Given the description of an element on the screen output the (x, y) to click on. 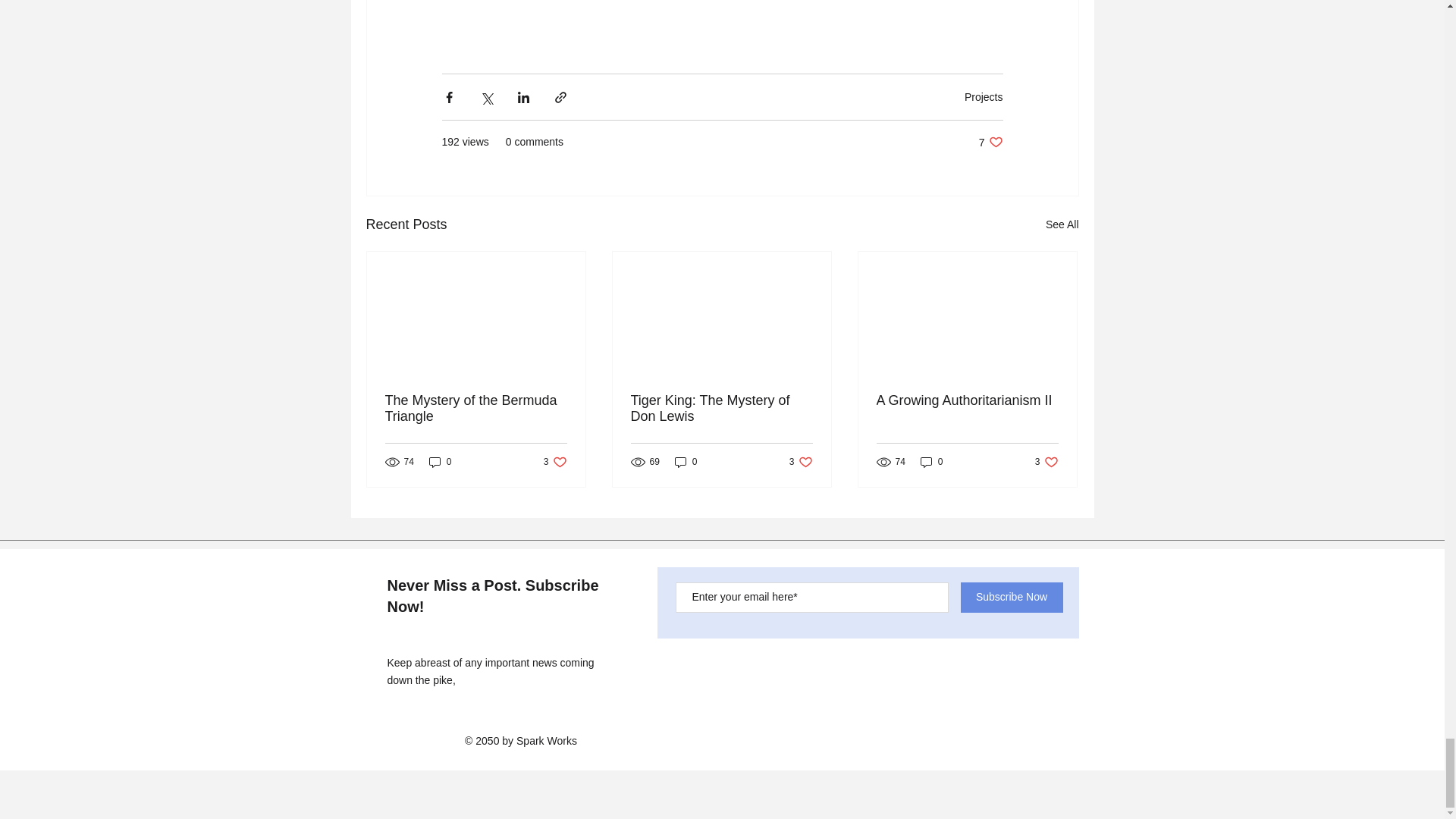
The Mystery of the Bermuda Triangle (476, 409)
Tiger King: The Mystery of Don Lewis (1046, 462)
Projects (721, 409)
0 (983, 96)
Subscribe Now (440, 462)
See All (990, 142)
0 (1010, 597)
